Given the description of an element on the screen output the (x, y) to click on. 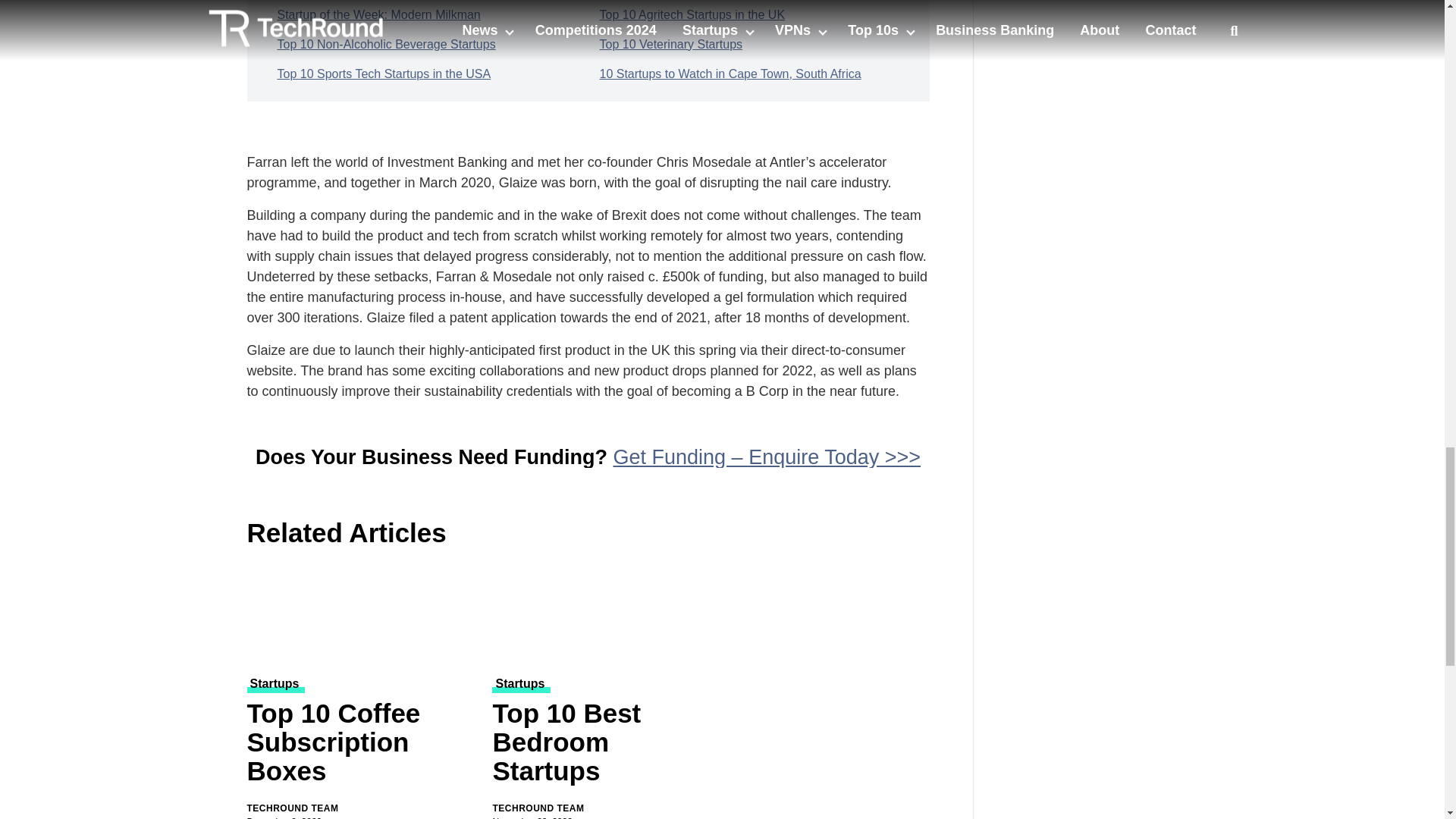
Top 10 Coffee Subscription Boxes (360, 613)
Enter The BAME Top 50 Entrepreneurs - Deadline 10th Nov 2021 (1107, 17)
Top 10 Coffee Subscription Boxes (360, 745)
